Given the description of an element on the screen output the (x, y) to click on. 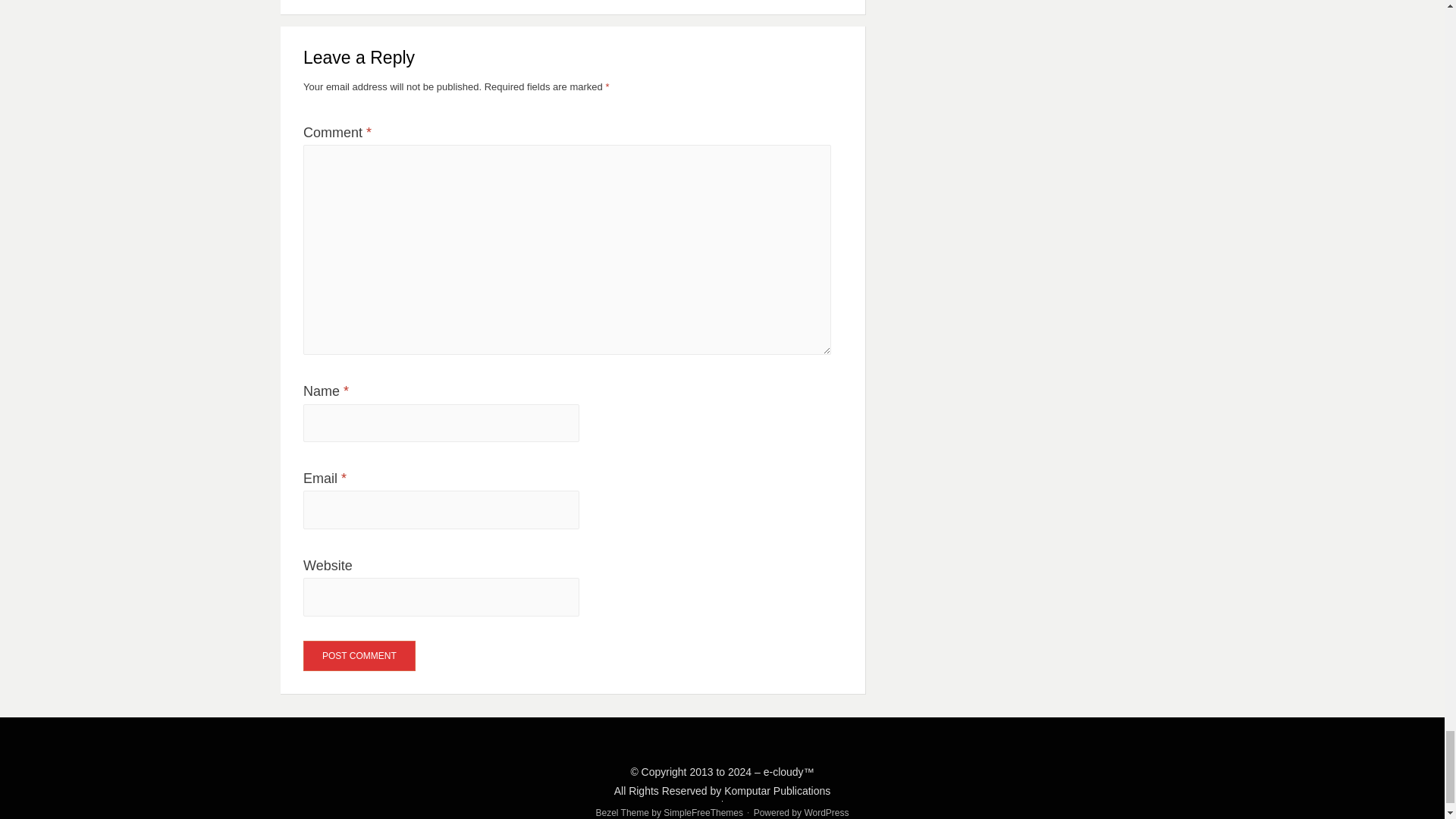
SimpleFreeThemes (702, 812)
WordPress (825, 812)
Post Comment (358, 655)
